Given the description of an element on the screen output the (x, y) to click on. 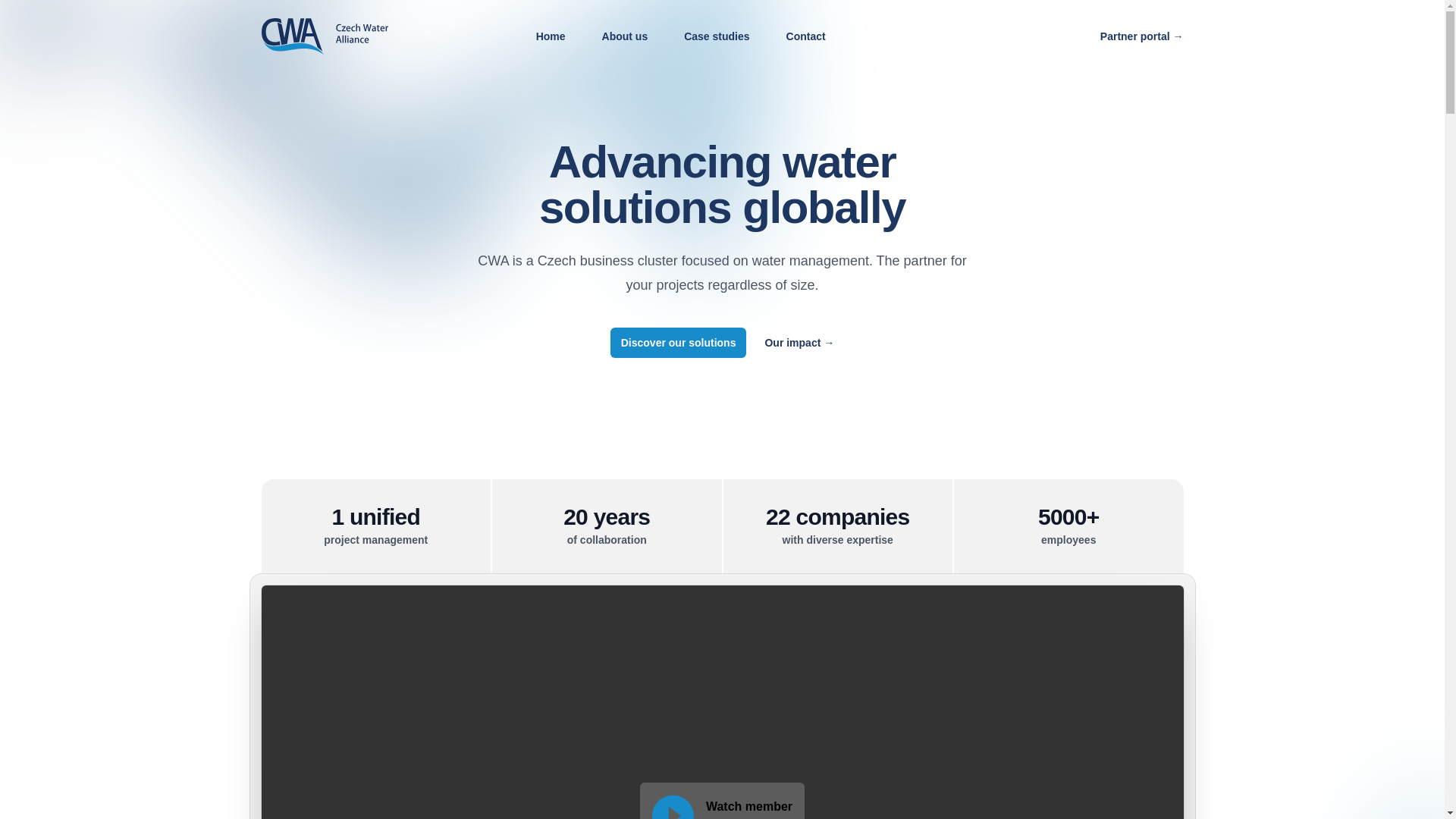
Case studies (716, 36)
About us (624, 36)
Home (550, 36)
Discover our solutions (678, 342)
Contact (805, 36)
Czech water alliance (722, 800)
